Given the description of an element on the screen output the (x, y) to click on. 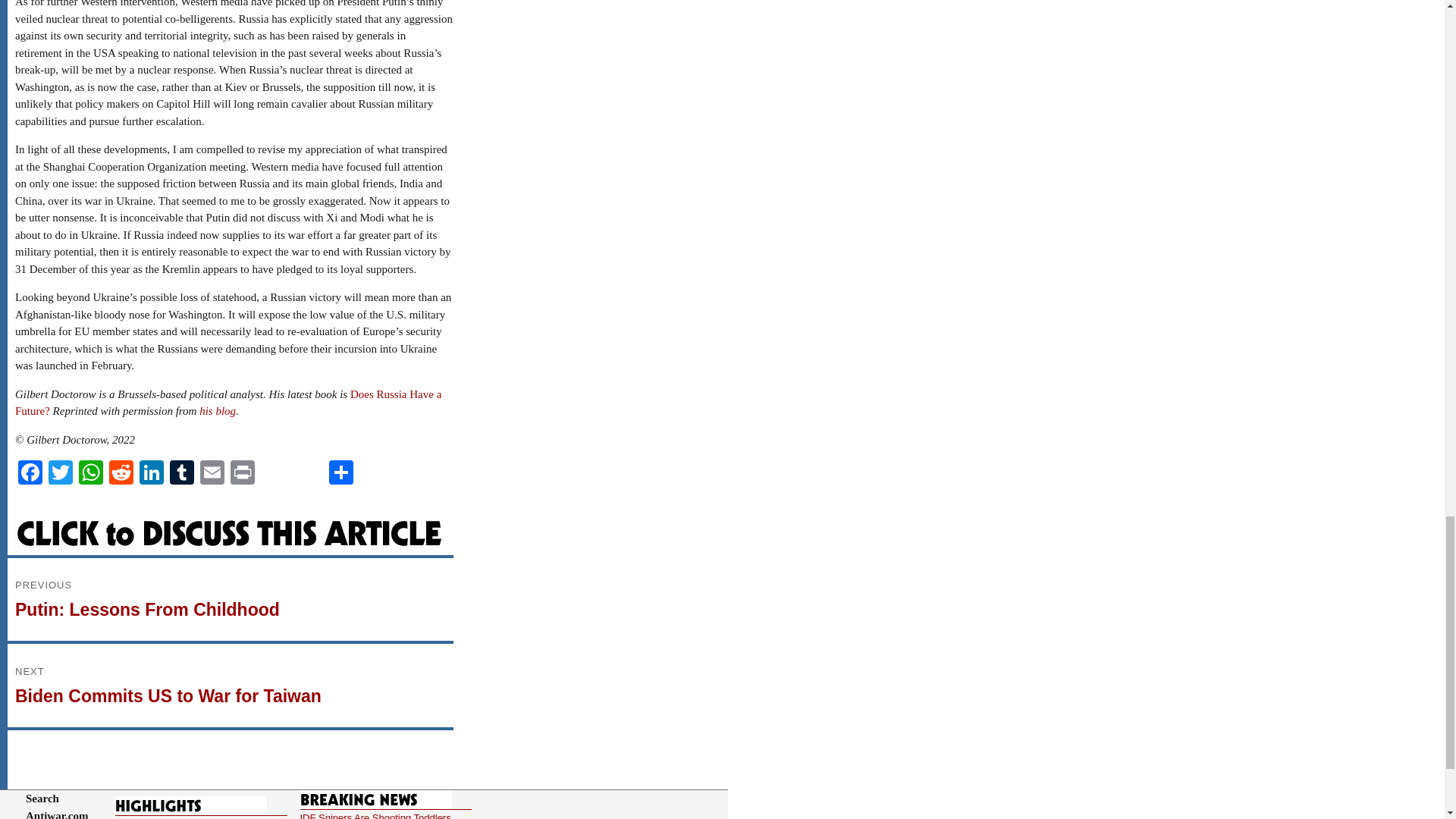
WhatsApp (90, 474)
his blog (217, 410)
Tumblr (181, 474)
Does Russia Have a Future? (227, 402)
Twitter (60, 474)
WhatsApp (90, 474)
Email (211, 474)
Email (211, 474)
Reddit (121, 474)
Twitter (60, 474)
Facebook (29, 474)
Reddit (121, 474)
Share (341, 474)
LinkedIn (229, 598)
